Given the description of an element on the screen output the (x, y) to click on. 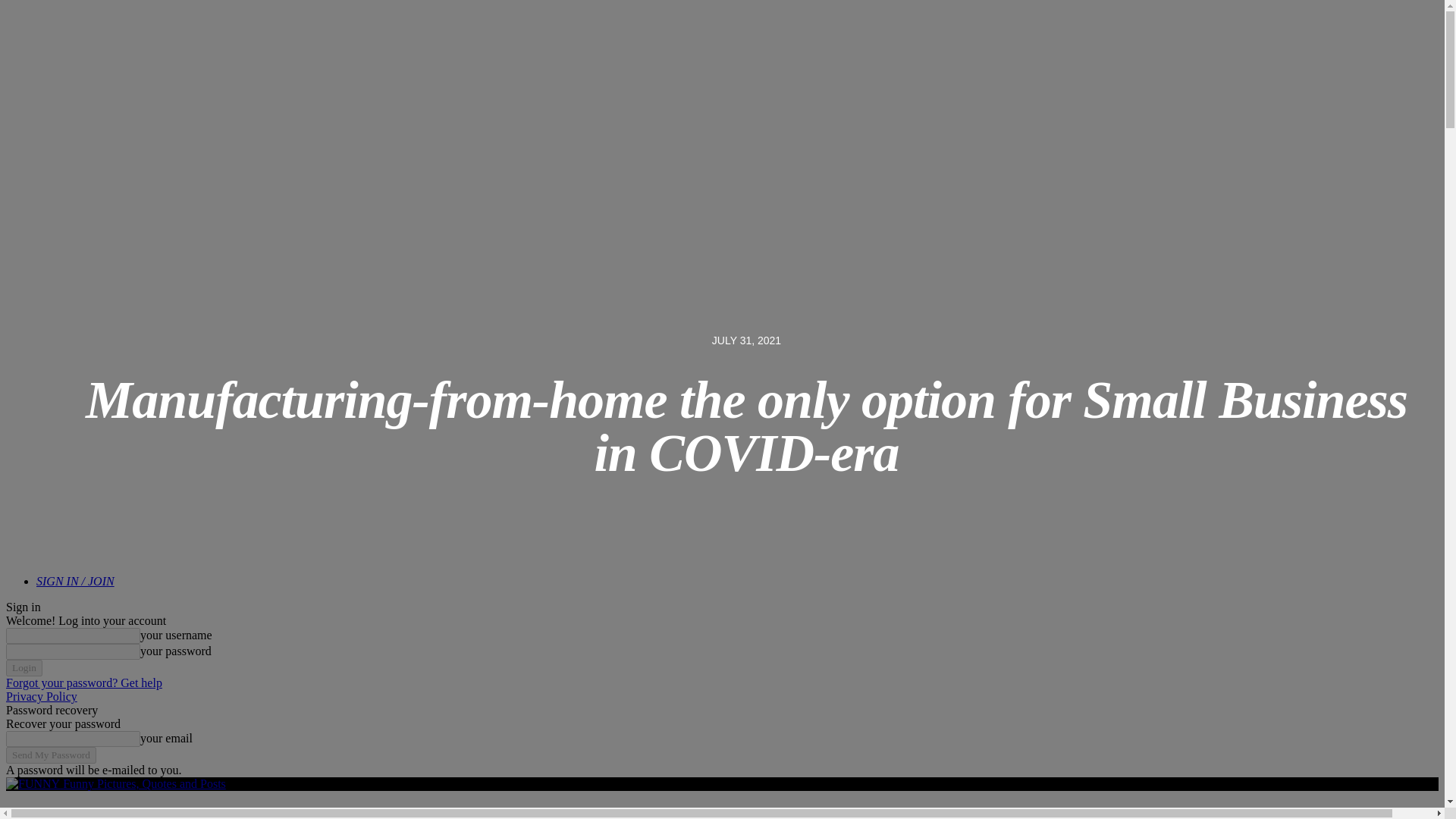
FUNNY (32, 784)
FUNNY (89, 815)
FUNNY (32, 815)
Login (23, 668)
Send My Password (50, 754)
